Given the description of an element on the screen output the (x, y) to click on. 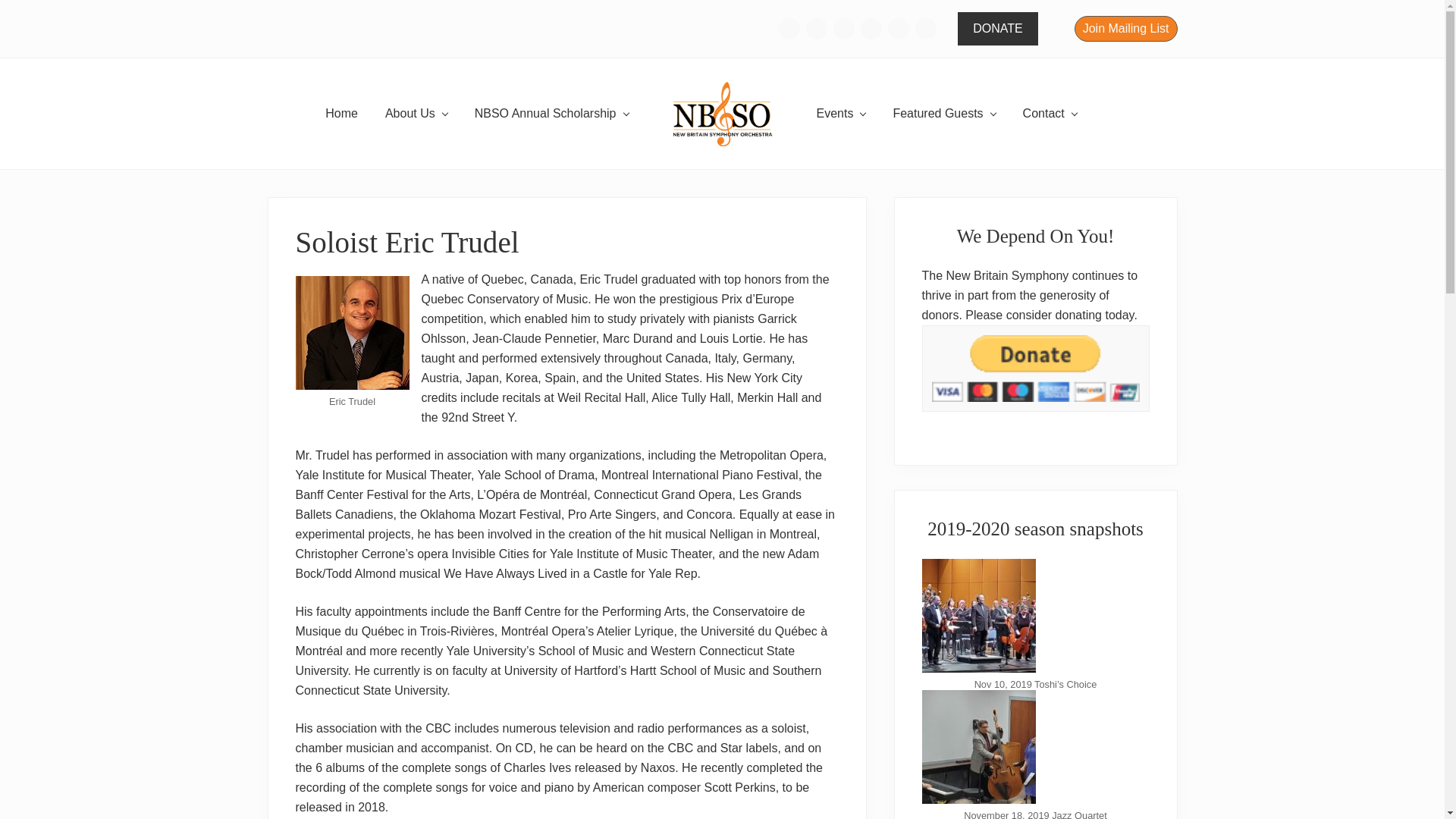
YouTube (925, 28)
DONATE (997, 28)
LinkedIn (871, 28)
Home (341, 113)
Instagram (844, 28)
YouTube (925, 28)
Email (788, 28)
Join Mailing List (1125, 28)
LinkedIn (870, 28)
Email (788, 28)
Facebook (816, 28)
Twitter (898, 28)
Facebook (816, 28)
Instagram (843, 28)
